Given the description of an element on the screen output the (x, y) to click on. 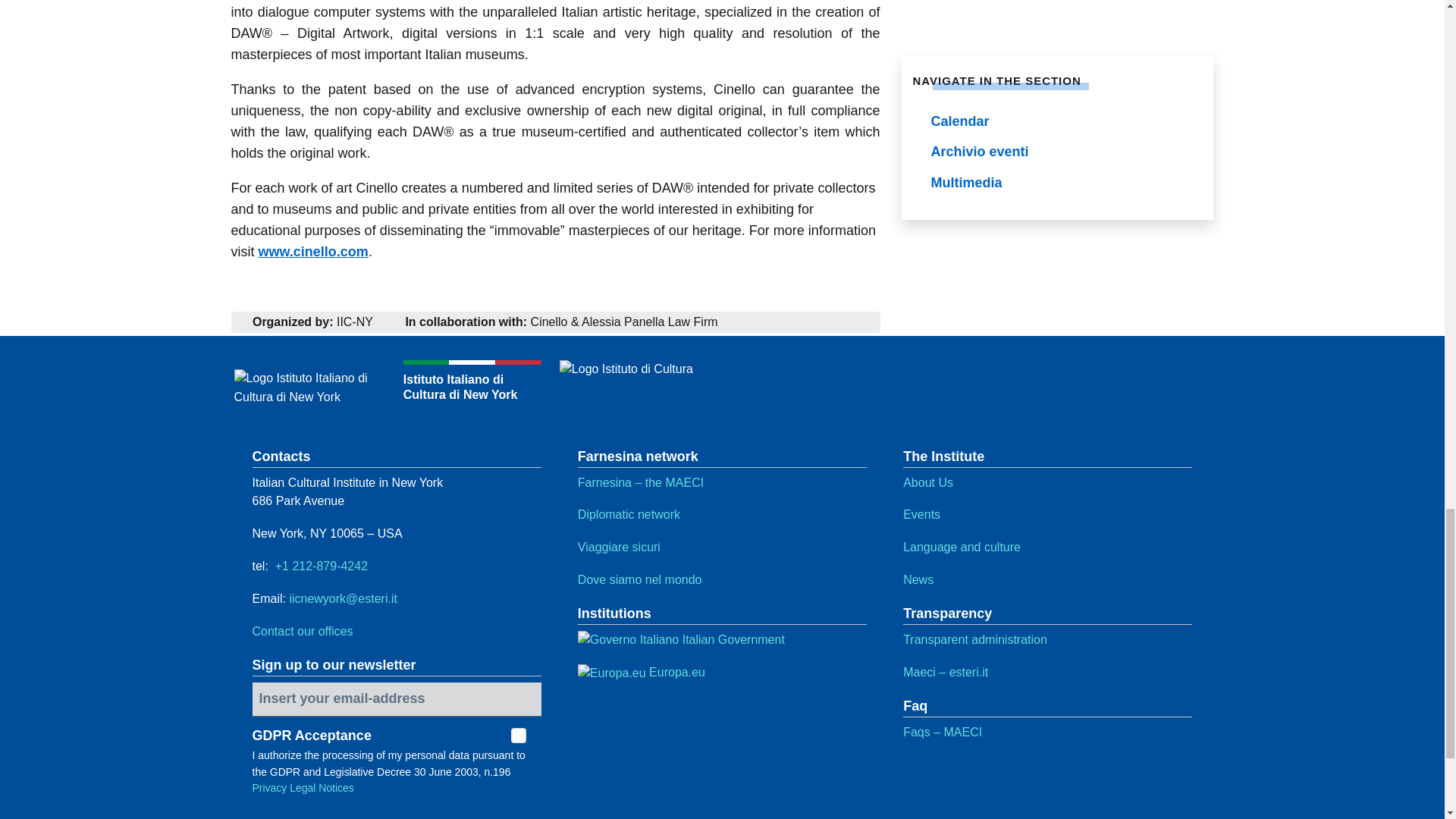
Legal Notices (321, 787)
Contact our offices (301, 631)
Go to the Legal Notice page (321, 787)
Istituto Italiano di Cultura di New York (395, 388)
Privacy (268, 787)
Contact our offices (301, 631)
www.cinello.com (312, 251)
Go to the Privacy Policy page (268, 787)
